Given the description of an element on the screen output the (x, y) to click on. 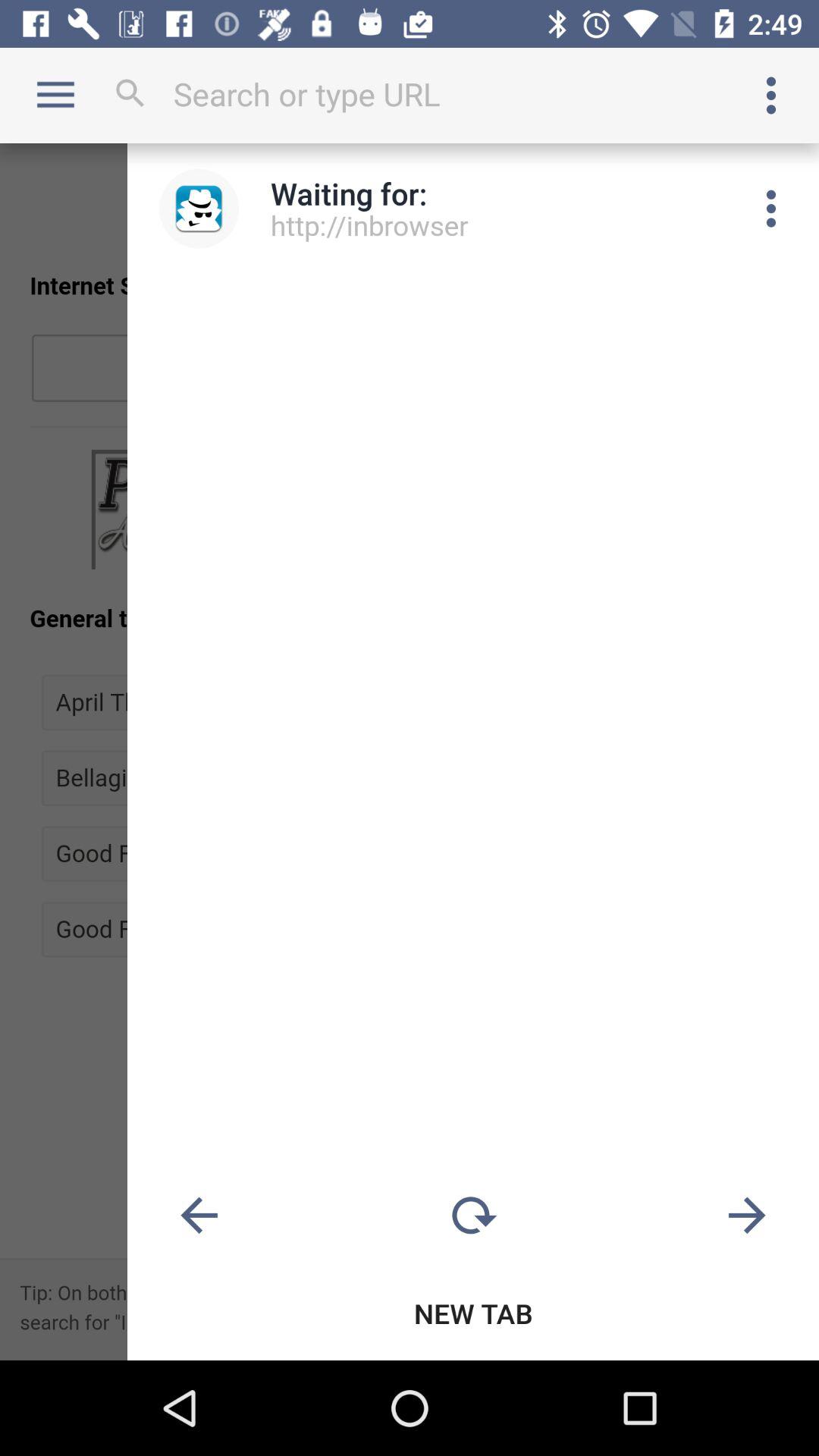
open menu (771, 208)
